Given the description of an element on the screen output the (x, y) to click on. 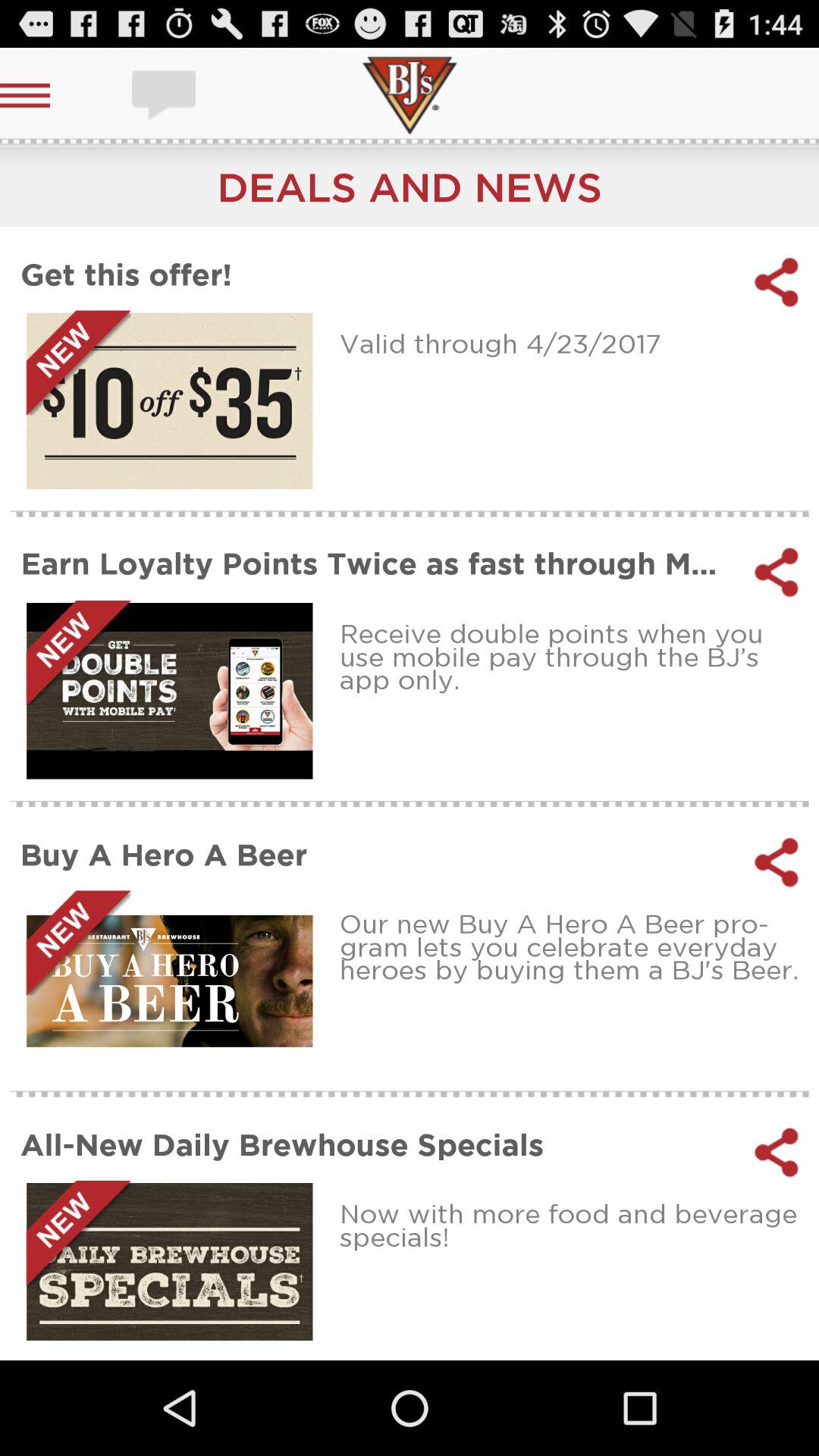
share option (776, 862)
